Given the description of an element on the screen output the (x, y) to click on. 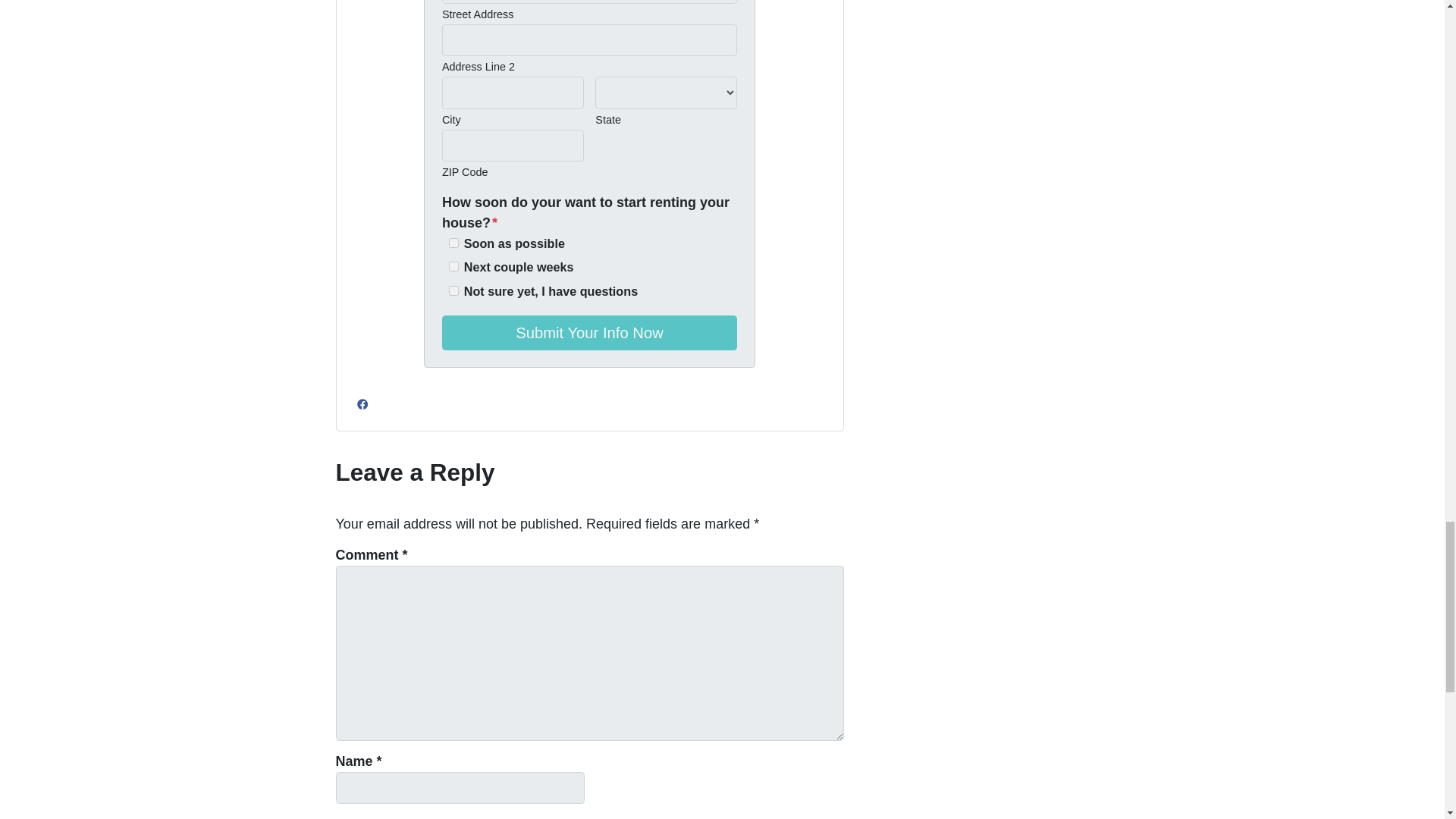
Not sure yet, I have questions (453, 290)
Soon as possible (453, 243)
Facebook (362, 403)
Next couple weeks (453, 266)
Submit Your Info Now (589, 332)
Submit Your Info Now (589, 332)
